Given the description of an element on the screen output the (x, y) to click on. 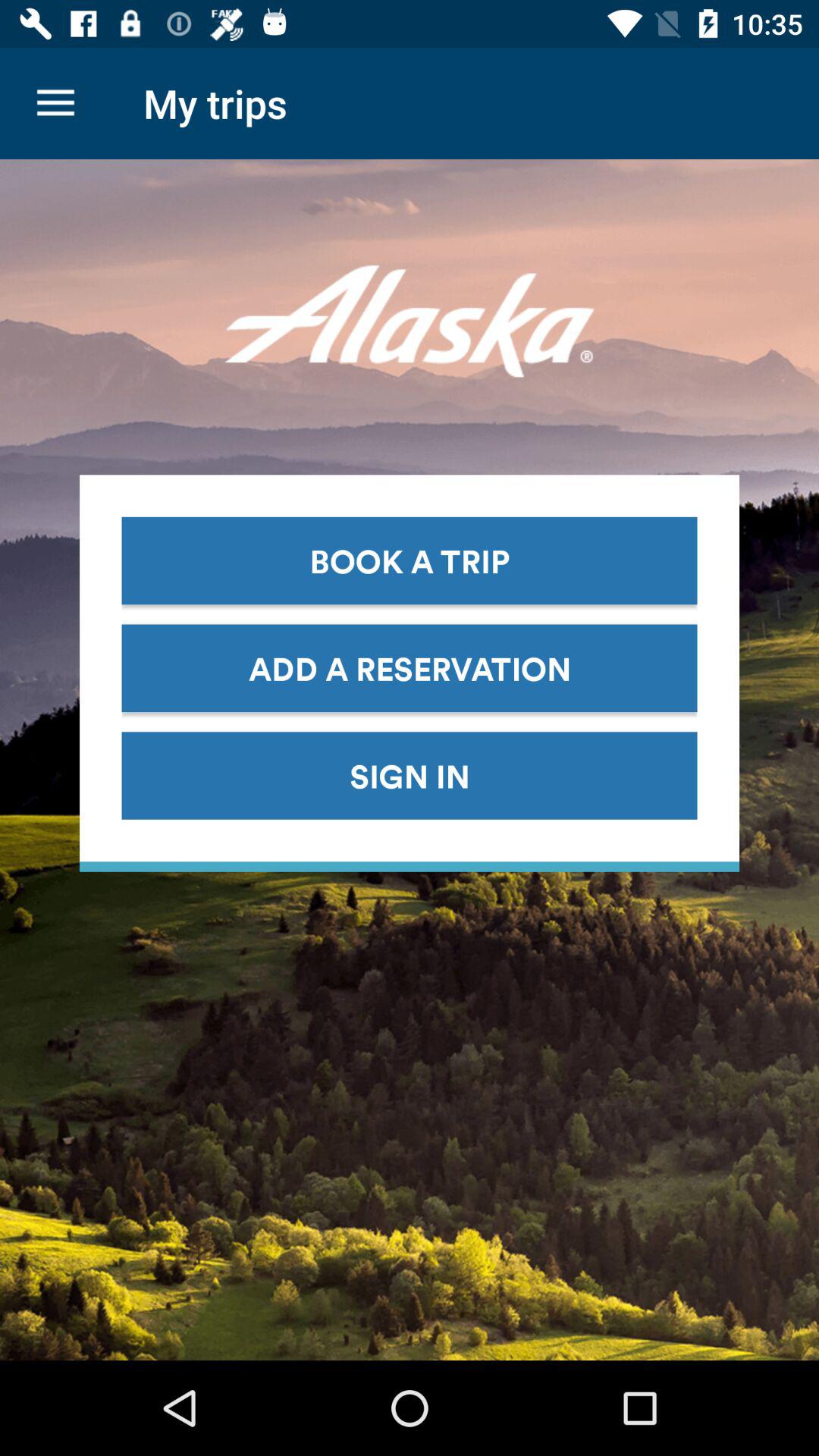
launch item below book a trip item (409, 668)
